Given the description of an element on the screen output the (x, y) to click on. 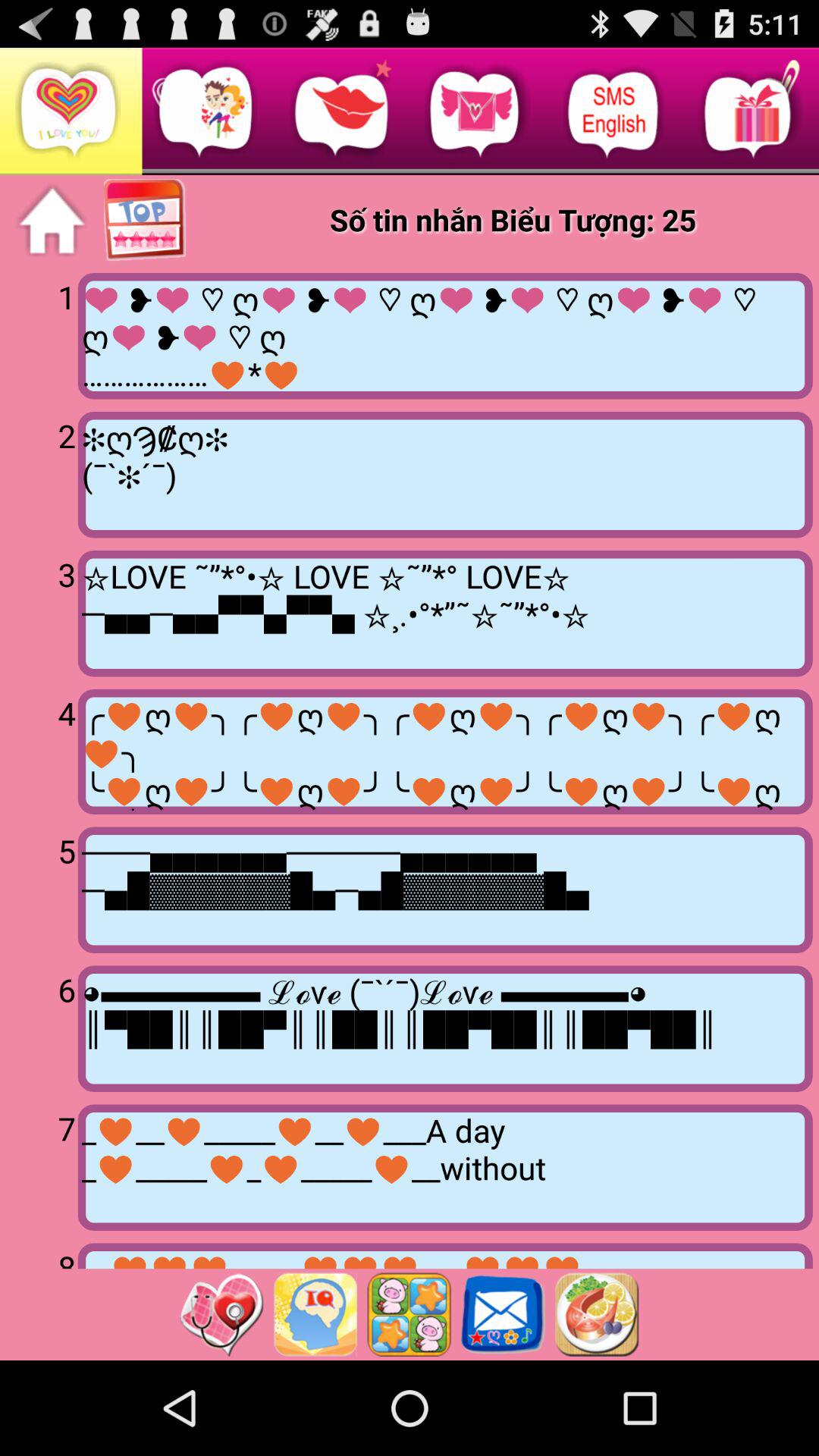
open the 2 (41, 472)
